Given the description of an element on the screen output the (x, y) to click on. 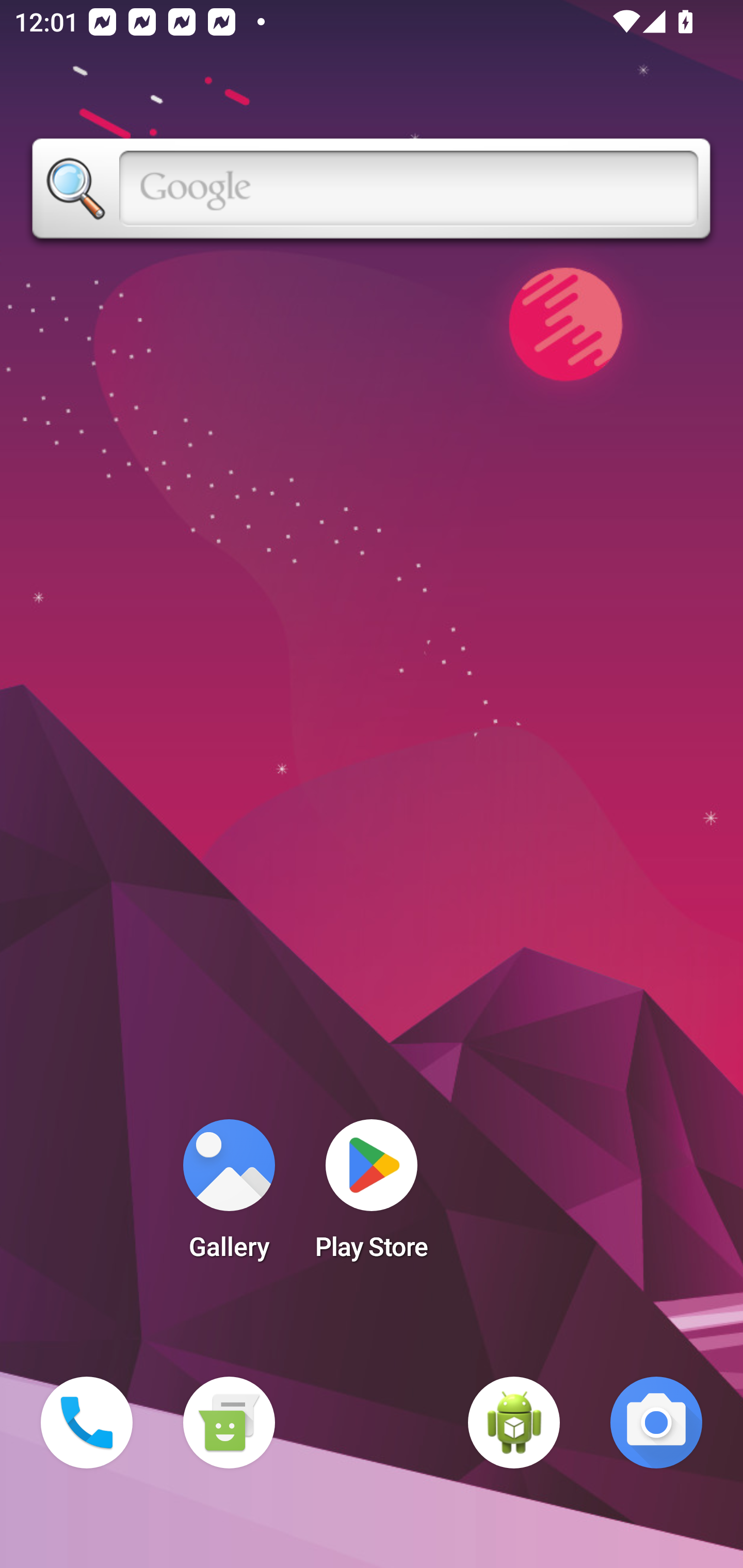
Gallery (228, 1195)
Play Store (371, 1195)
Phone (86, 1422)
Messaging (228, 1422)
WebView Browser Tester (513, 1422)
Camera (656, 1422)
